Given the description of an element on the screen output the (x, y) to click on. 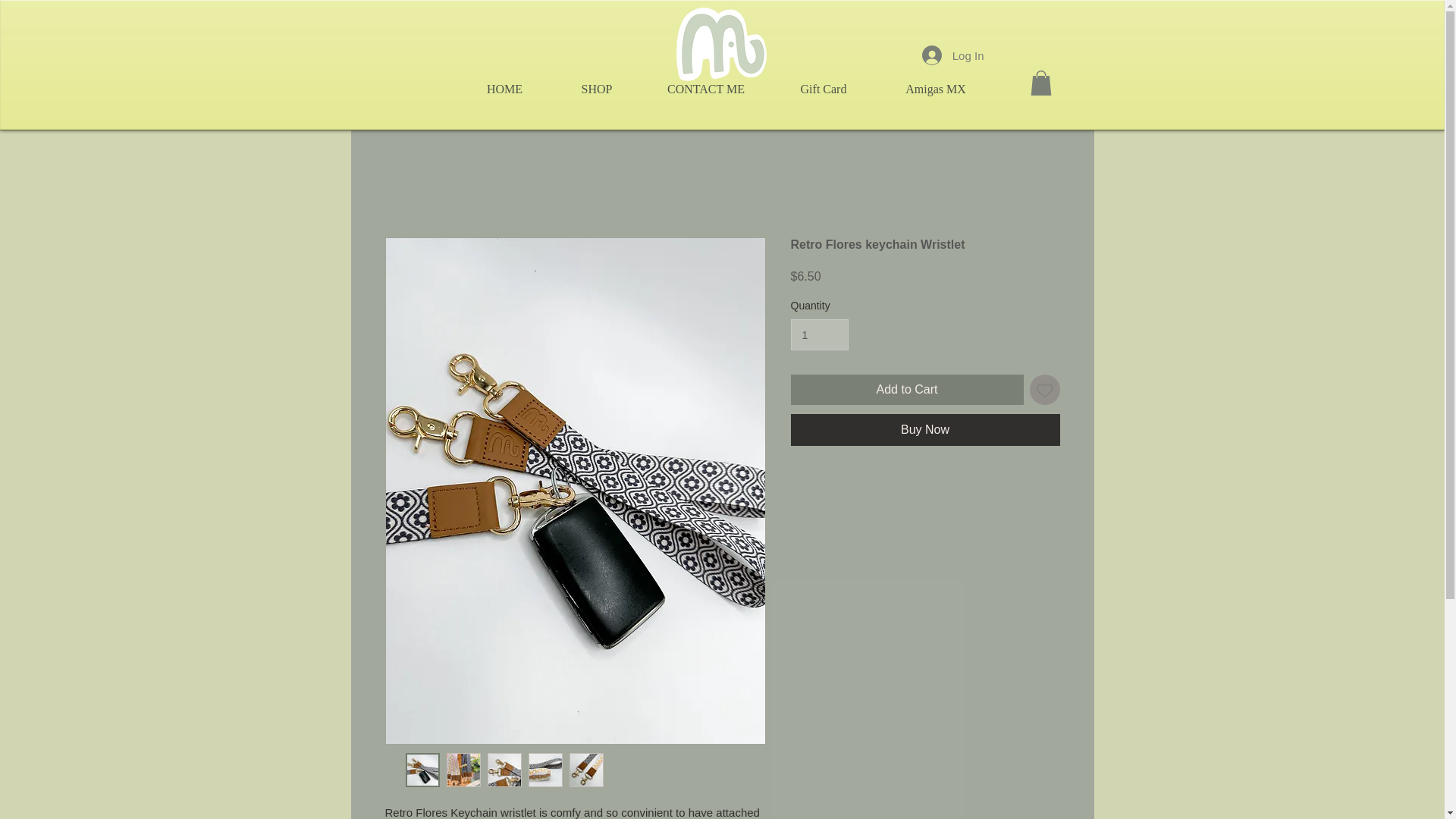
HOME (504, 89)
Gift Card (823, 89)
CONTACT ME (706, 89)
Buy Now (924, 429)
1 (818, 334)
Add to Cart (906, 389)
Log In (952, 54)
Amigas MX (935, 89)
